Given the description of an element on the screen output the (x, y) to click on. 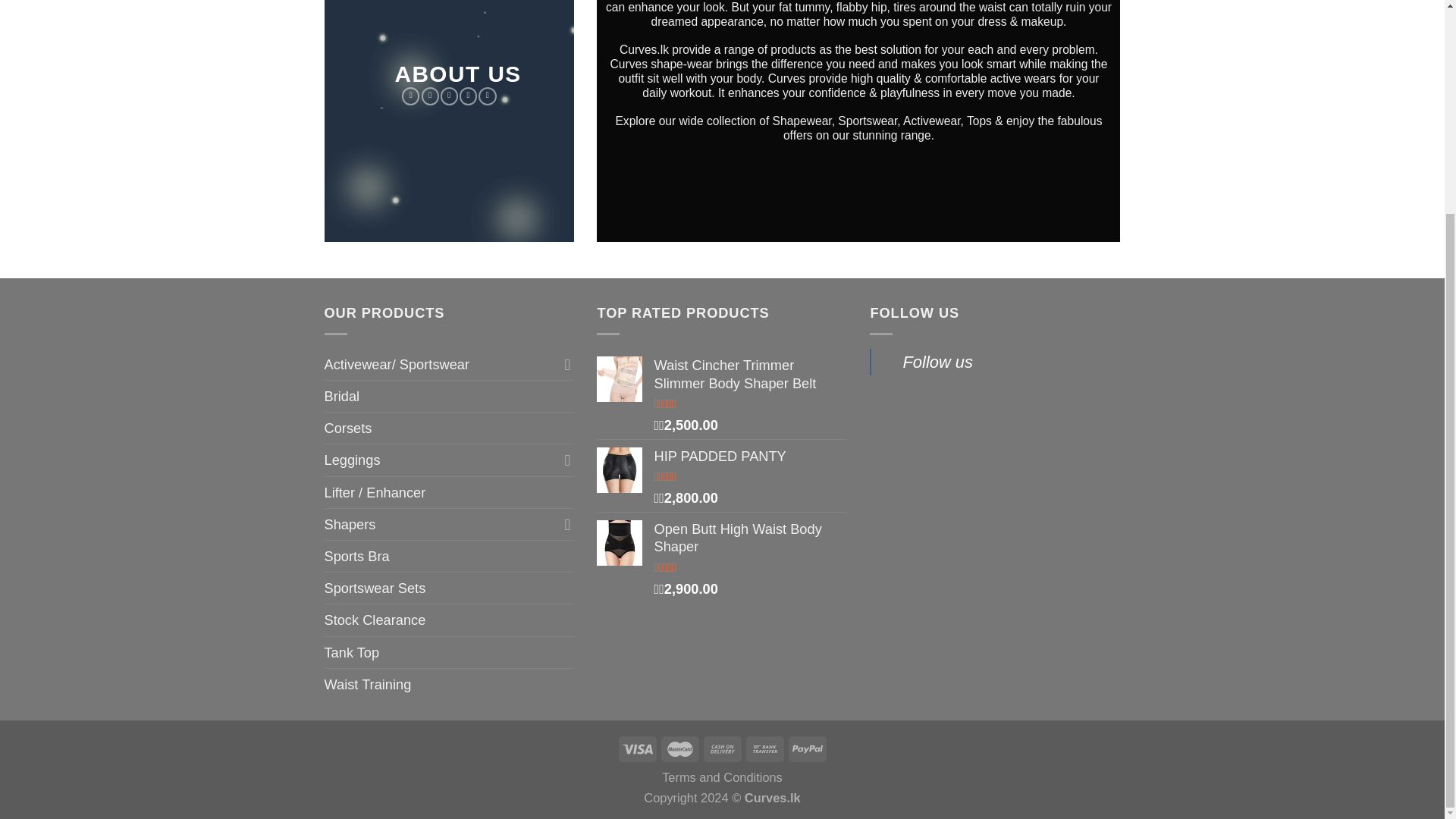
Bridal (449, 395)
Leggings (440, 459)
Corsets (449, 427)
